Given the description of an element on the screen output the (x, y) to click on. 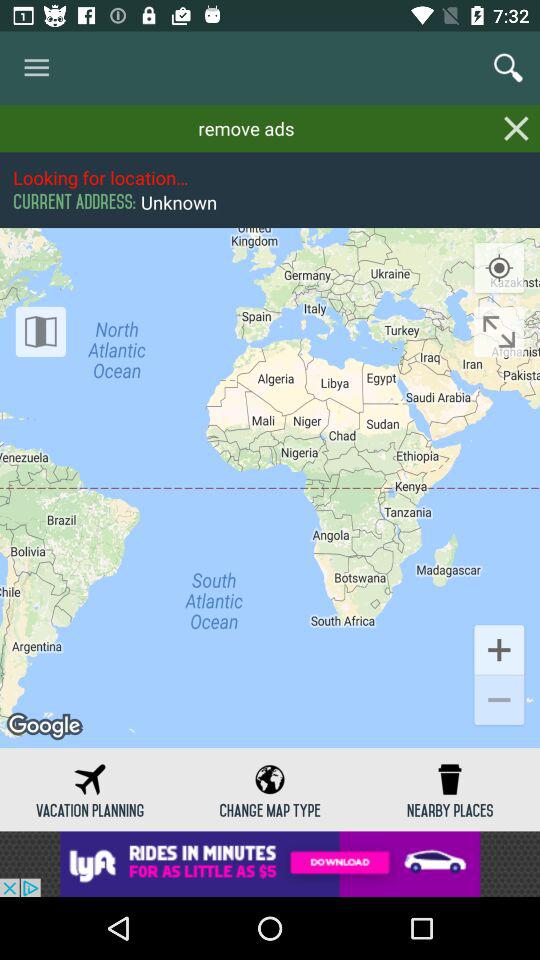
remove parts (516, 128)
